Given the description of an element on the screen output the (x, y) to click on. 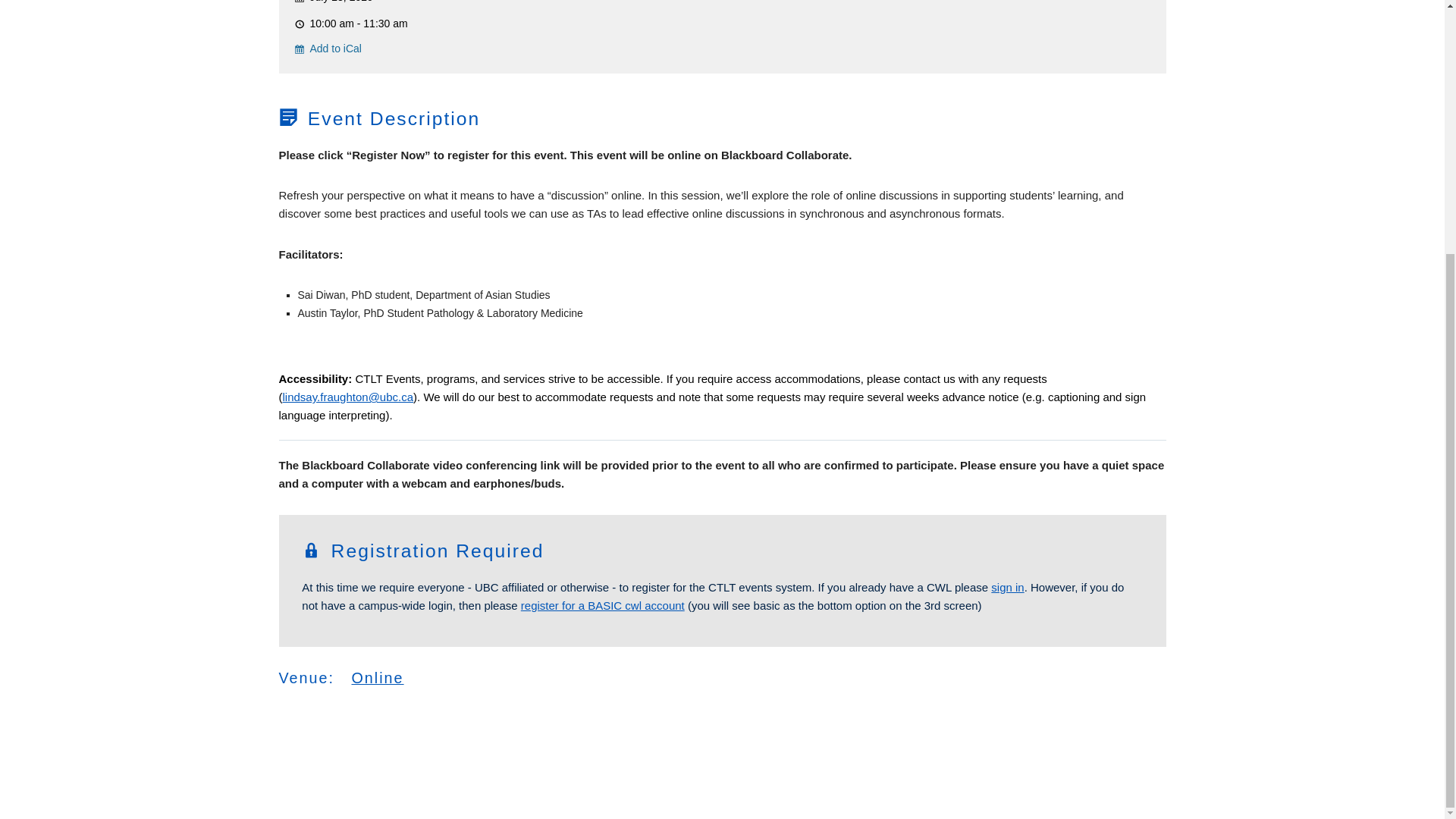
Sign in to the UBC CTLT Events System (1007, 586)
Add to iCal Calendar (331, 49)
Register for a UBC CWL (602, 604)
